Given the description of an element on the screen output the (x, y) to click on. 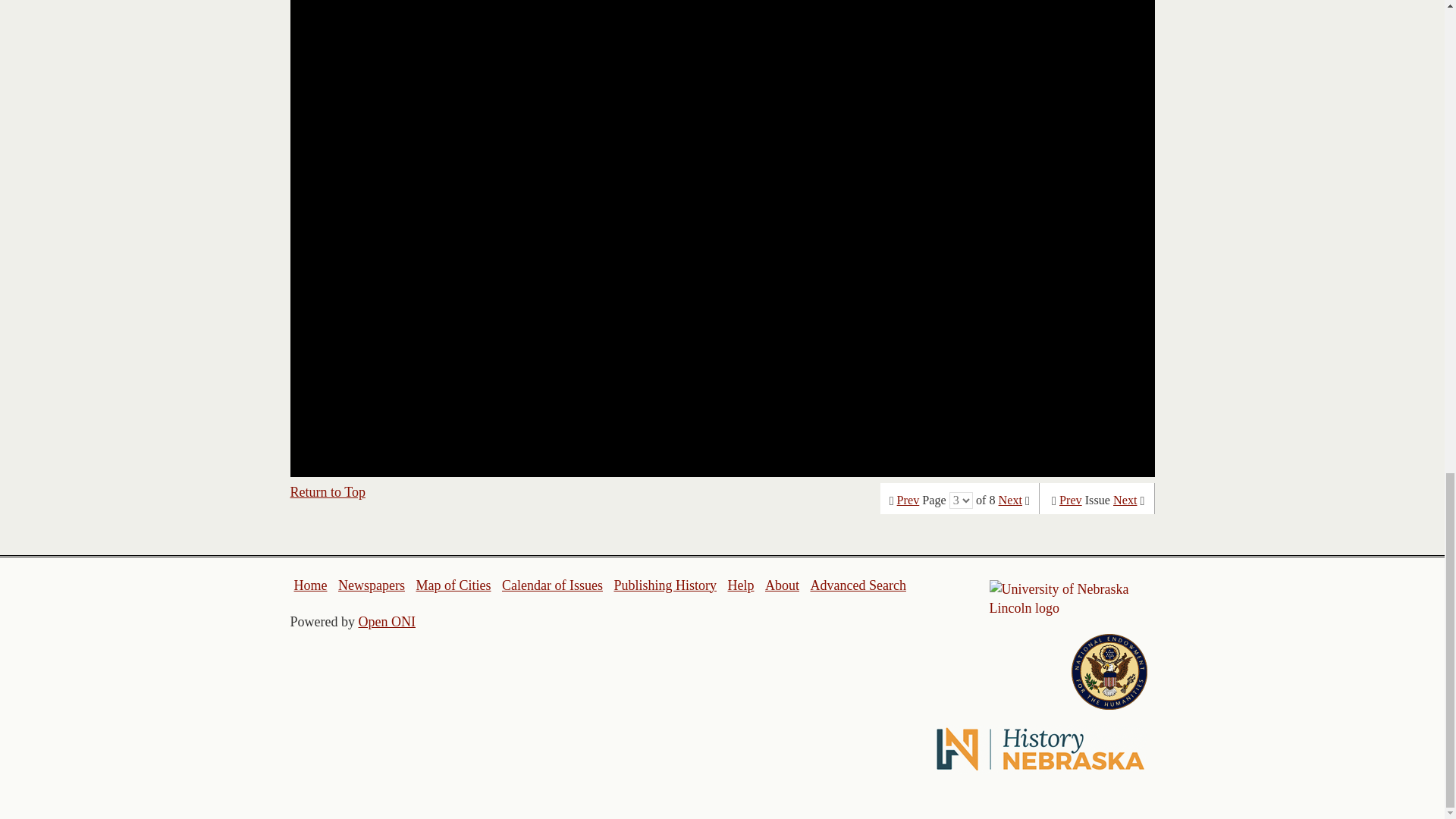
Newspapers (370, 585)
Return to Top (327, 491)
Prev (908, 499)
Map of Cities (452, 585)
Next (1125, 499)
Calendar of Issues (552, 585)
Next (1010, 499)
Advanced Search (857, 585)
Help (740, 585)
Prev (1070, 499)
